Given the description of an element on the screen output the (x, y) to click on. 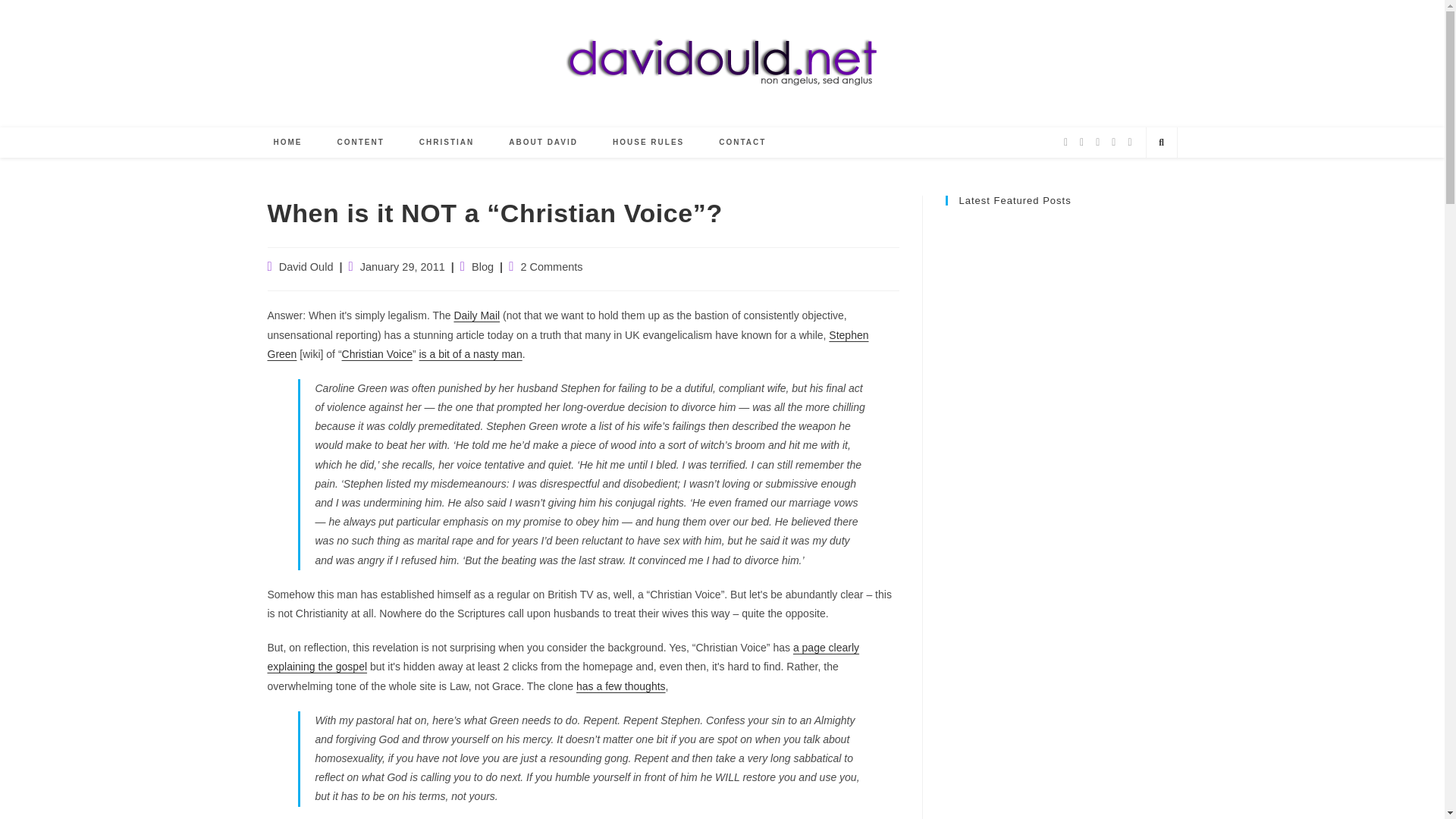
Christian Voice (377, 354)
ABOUT DAVID (543, 142)
CONTENT (360, 142)
is a bit of a nasty man (470, 354)
a page clearly explaining the gospel (562, 656)
CONTACT (742, 142)
Posts by David Ould (306, 266)
HOME (288, 142)
CHRISTIAN (446, 142)
HOUSE RULES (648, 142)
